Given the description of an element on the screen output the (x, y) to click on. 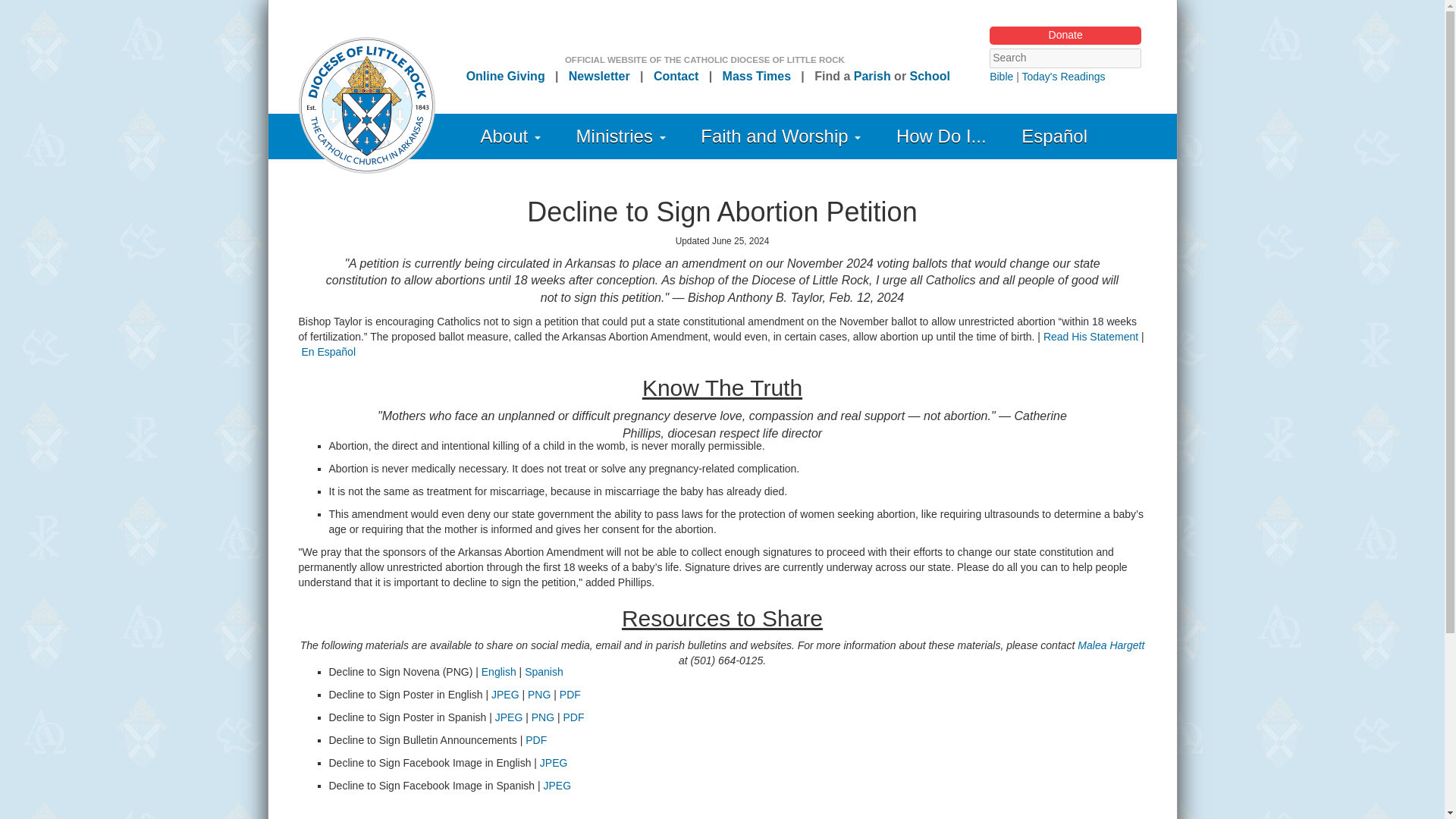
About (510, 135)
Parish (872, 75)
Ministries (620, 135)
Newsletter (599, 75)
Faith and Worship (780, 135)
Contact (675, 75)
Today's Readings (1063, 76)
Online Giving (504, 75)
Bible (1001, 76)
Enter the terms you wish to search for (1065, 57)
Donate (1065, 35)
Mass Times (756, 75)
School (930, 75)
